Given the description of an element on the screen output the (x, y) to click on. 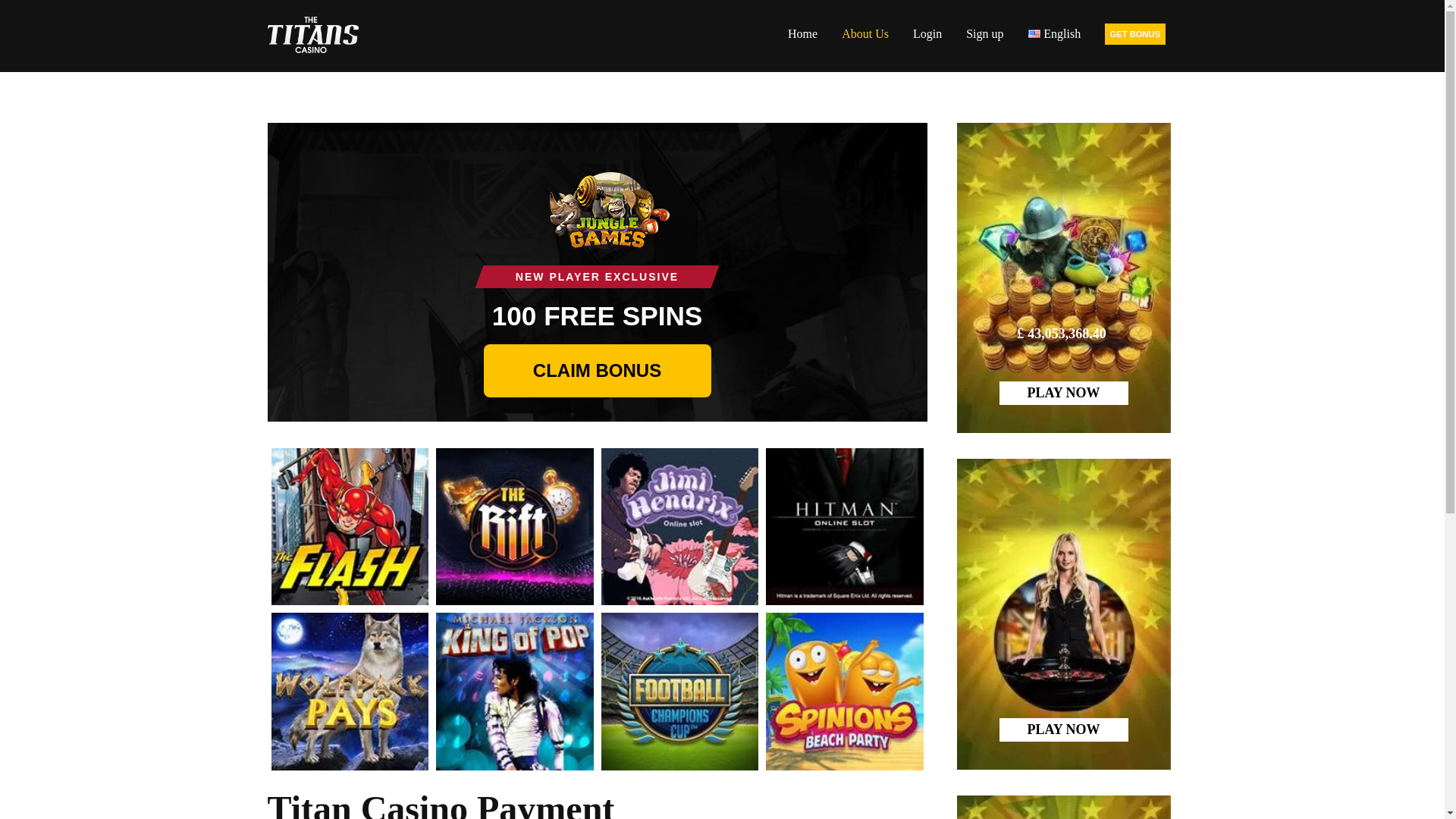
Sign up (983, 33)
About Us (865, 33)
Login (927, 33)
Home (802, 33)
English (1054, 33)
Titan Casino (312, 34)
